Given the description of an element on the screen output the (x, y) to click on. 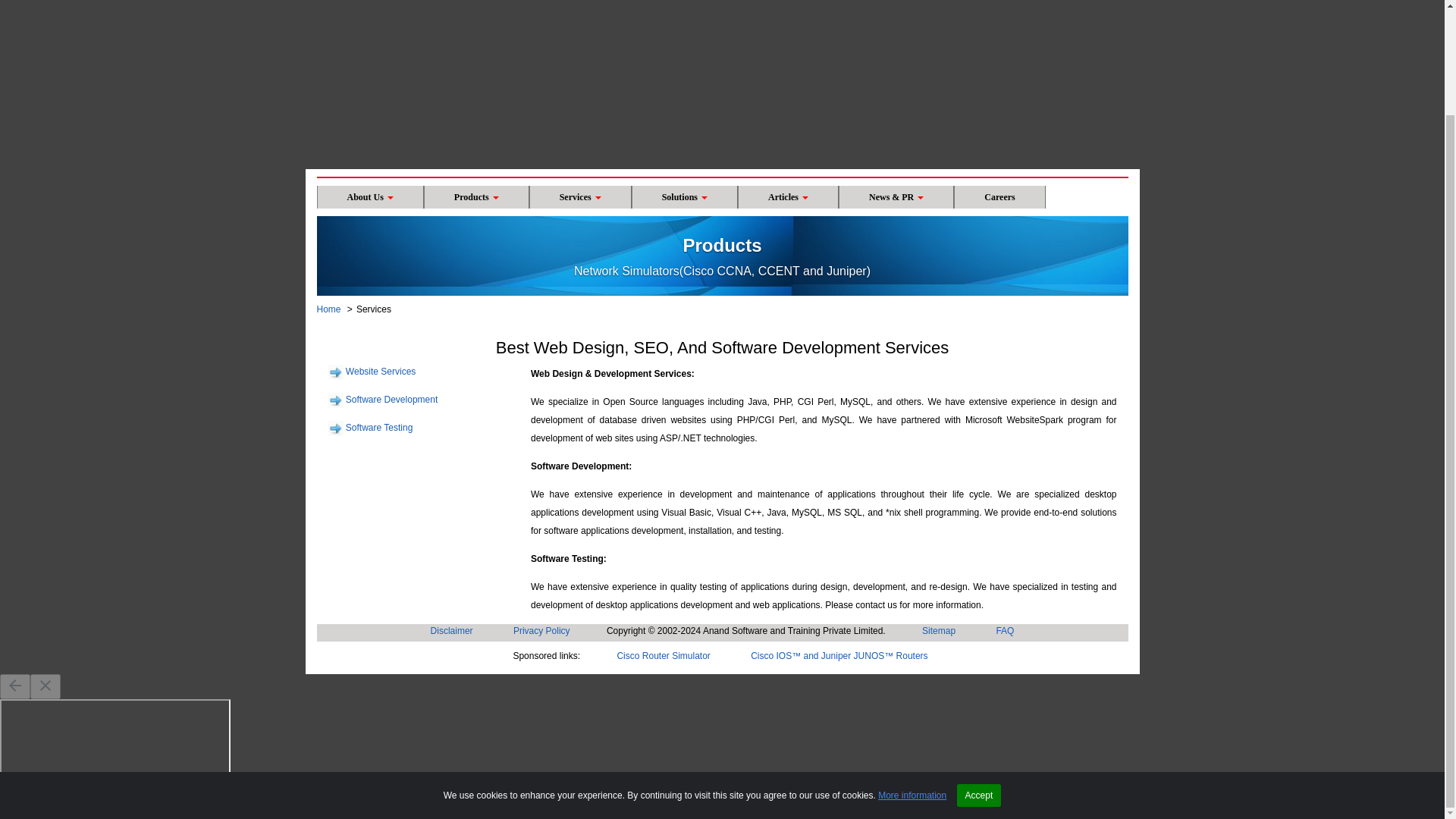
Products (476, 196)
Services (580, 196)
About Us (370, 196)
Solutions (684, 196)
